Given the description of an element on the screen output the (x, y) to click on. 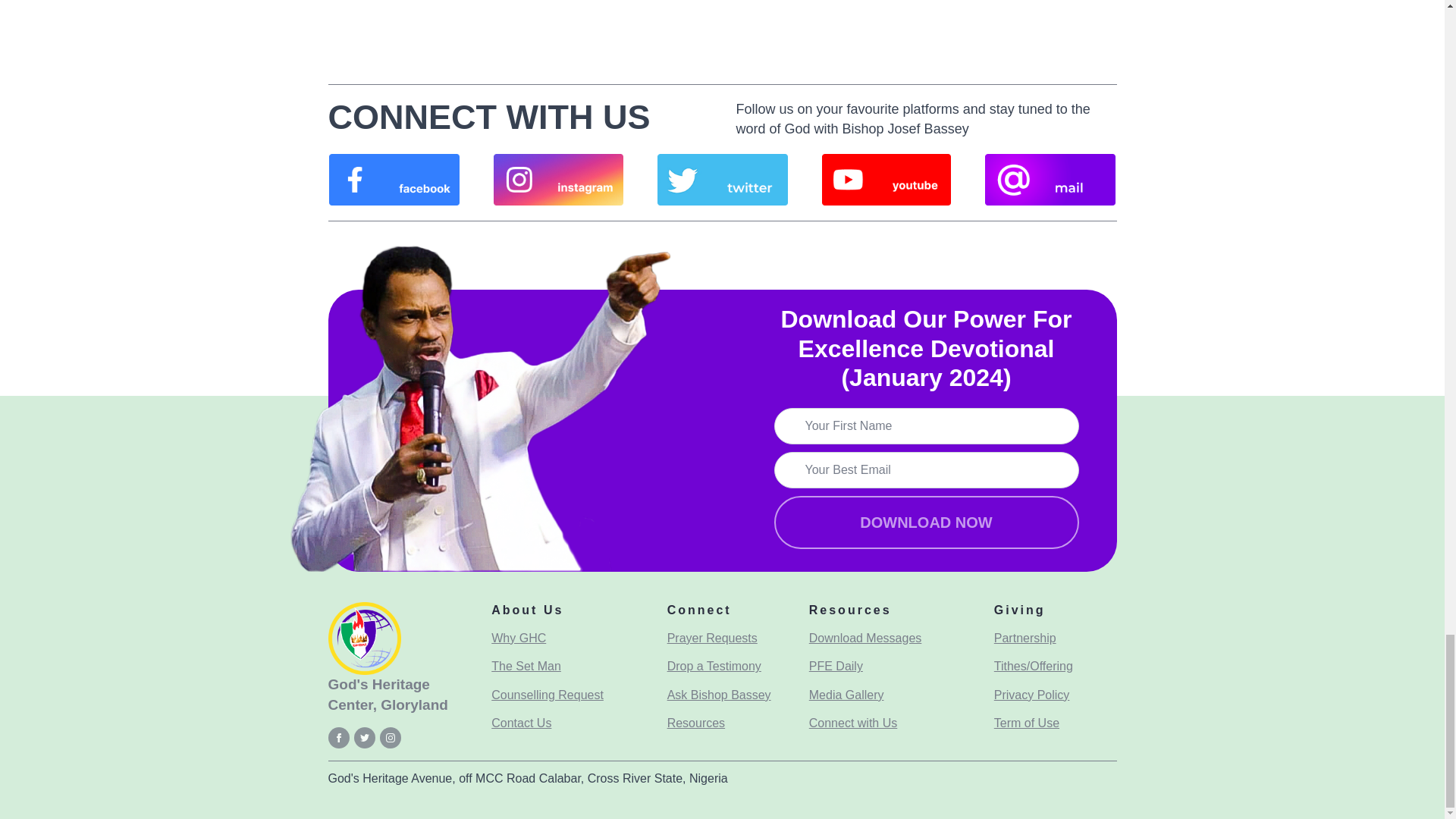
Contact Us (521, 723)
DOWNLOAD NOW (925, 521)
Partnership (1025, 638)
Ask Bishop Bassey (718, 695)
Connect with Us (853, 723)
Prayer Requests (711, 638)
Resources (695, 723)
Drop a Testimony (713, 666)
The Set Man (526, 666)
Media Gallery (846, 695)
Download Messages (865, 638)
Counselling Request (548, 695)
Why GHC (519, 638)
PFE Daily (836, 666)
